Given the description of an element on the screen output the (x, y) to click on. 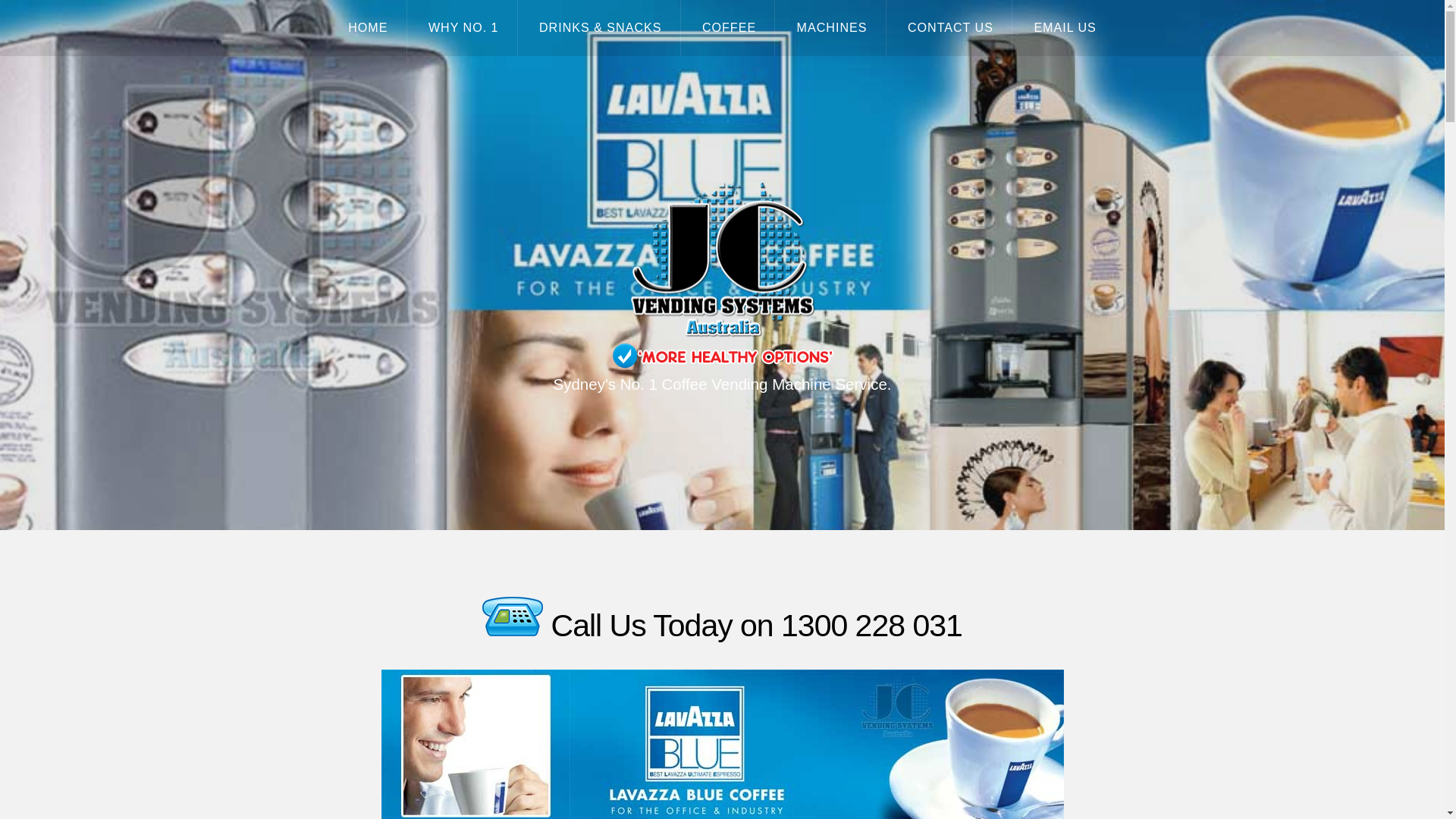
EMAIL US (1064, 28)
WHY NO. 1 (463, 28)
MACHINES (831, 28)
HOME (368, 28)
COFFEE (729, 28)
CONTACT US (950, 28)
